Given the description of an element on the screen output the (x, y) to click on. 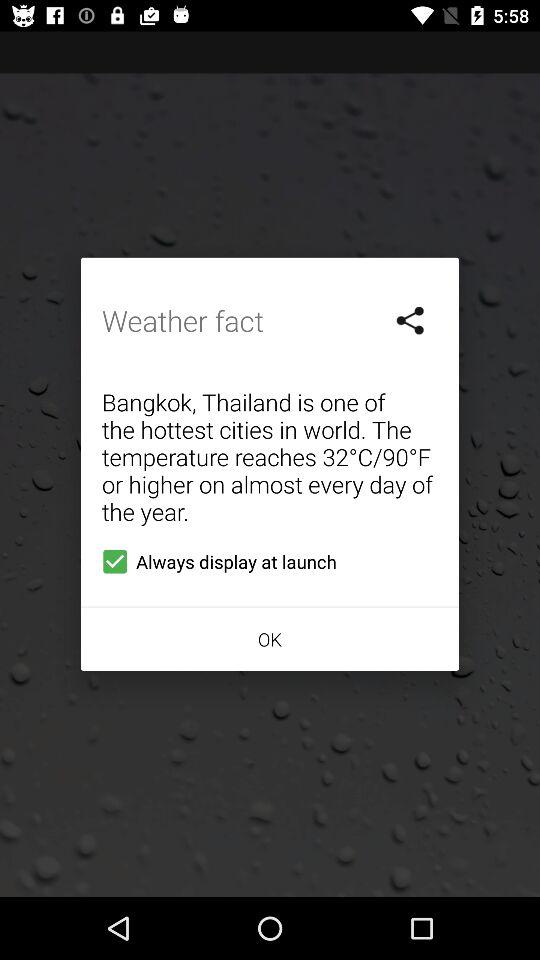
launch icon above the bangkok thailand is item (411, 320)
